Given the description of an element on the screen output the (x, y) to click on. 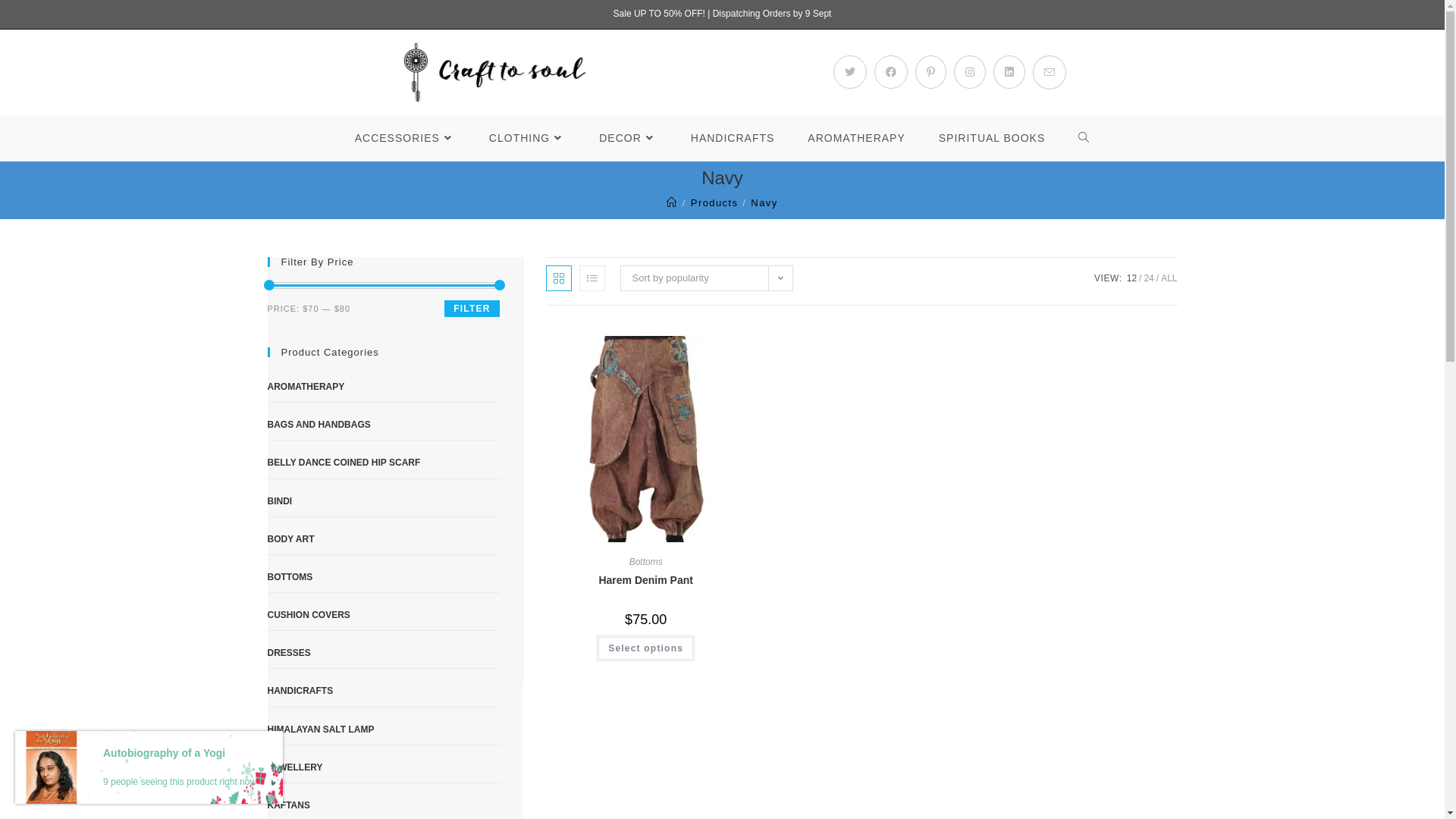
HANDICRAFTS Element type: text (732, 137)
My Account Element type: text (767, 650)
0 COMMENTS Element type: text (675, 656)
Crafttosoul.com.au Element type: text (364, 754)
0 COMMENTS Element type: text (679, 744)
List view Element type: hover (592, 278)
Products Element type: text (714, 202)
DECOR Element type: text (628, 137)
Grid view Element type: hover (558, 278)
How to open your third eye through kundalini yoga? Element type: text (632, 718)
Checkout Element type: text (762, 672)
FILTER Element type: text (471, 308)
CLOTHING Element type: text (527, 137)
Bottoms Element type: text (645, 561)
BAGS AND HANDBAGS Element type: text (382, 425)
BODY ART Element type: text (382, 539)
AROMATHERAPY Element type: text (855, 137)
Autobiography of a Yogi Element type: text (179, 752)
TOGGLE WEBSITE SEARCH Element type: text (1083, 137)
How to open your third eye through kundalini yoga? Element type: hover (532, 725)
ACCESSORIES Element type: text (405, 137)
Top Selling Hippie Bags Element type: text (624, 639)
Melbourne, Australia Element type: text (401, 663)
CUSHION COVERS Element type: text (382, 615)
24 Element type: text (1148, 278)
HIMALAYAN SALT LAMP Element type: text (382, 730)
Harem Denim Pant Element type: text (645, 580)
Contact Us Element type: text (765, 717)
BELLY DANCE COINED HIP SCARF Element type: text (382, 463)
AROMATHERAPY Element type: text (382, 387)
BOTTOMS Element type: text (382, 577)
SPIRITUAL BOOKS Element type: text (992, 137)
Select options Element type: text (645, 648)
Delivery Element type: text (759, 695)
Navy Element type: text (763, 202)
12 Element type: text (1131, 278)
HANDICRAFTS Element type: text (382, 691)
Top Selling Hippie Bags Element type: hover (532, 646)
DRESSES Element type: text (382, 653)
enquiry@crafttosoul.com.au Element type: text (386, 708)
BINDI Element type: text (382, 501)
JEWELLERY Element type: text (382, 768)
ALL Element type: text (1168, 278)
